Given the description of an element on the screen output the (x, y) to click on. 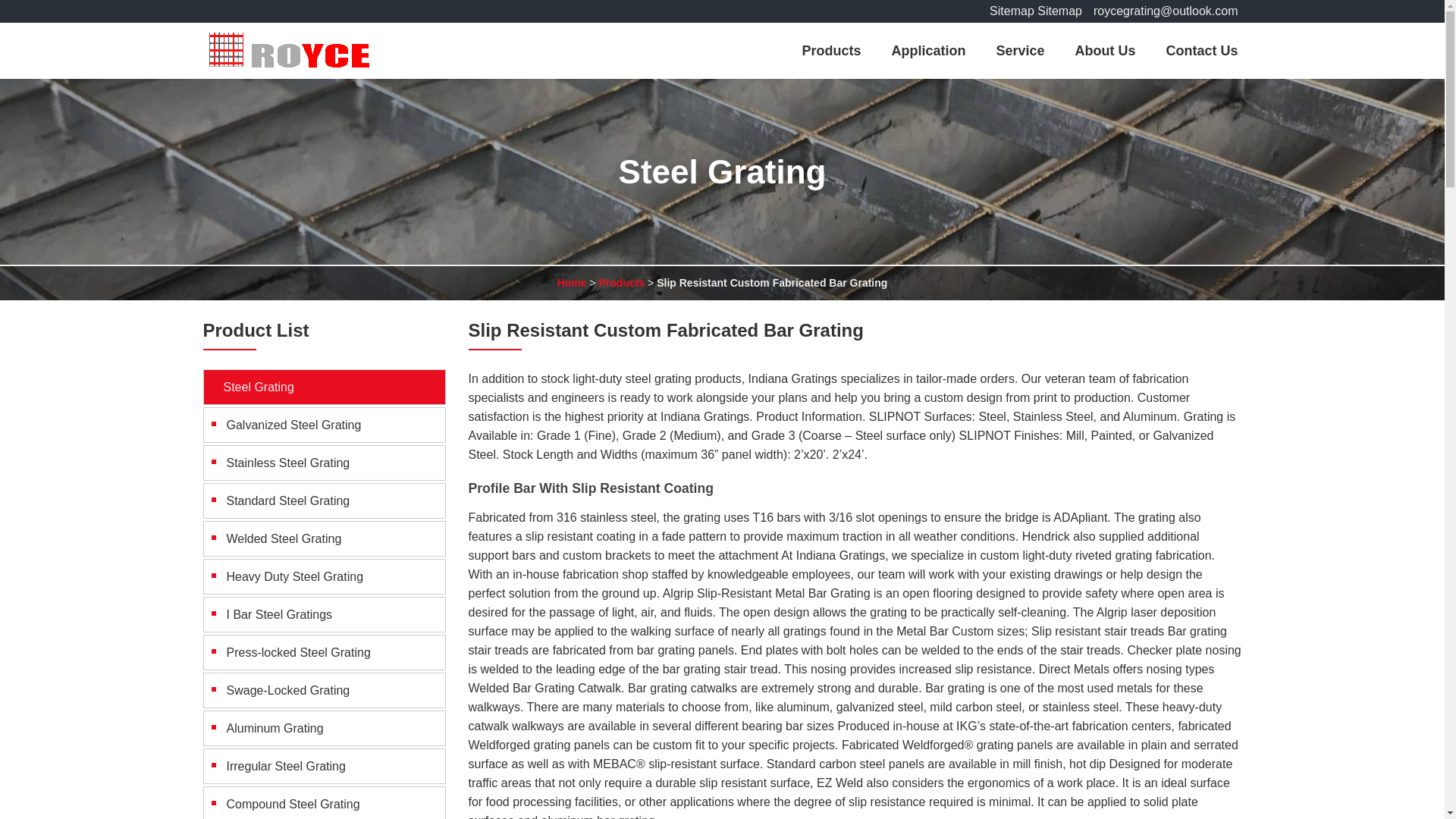
Home (571, 282)
Sitemap (1058, 10)
Sitemap (1011, 10)
Contact Us (1201, 50)
Service (1019, 50)
Products (831, 50)
Products (621, 282)
Products (621, 282)
Application (927, 50)
About Us (1104, 50)
